Given the description of an element on the screen output the (x, y) to click on. 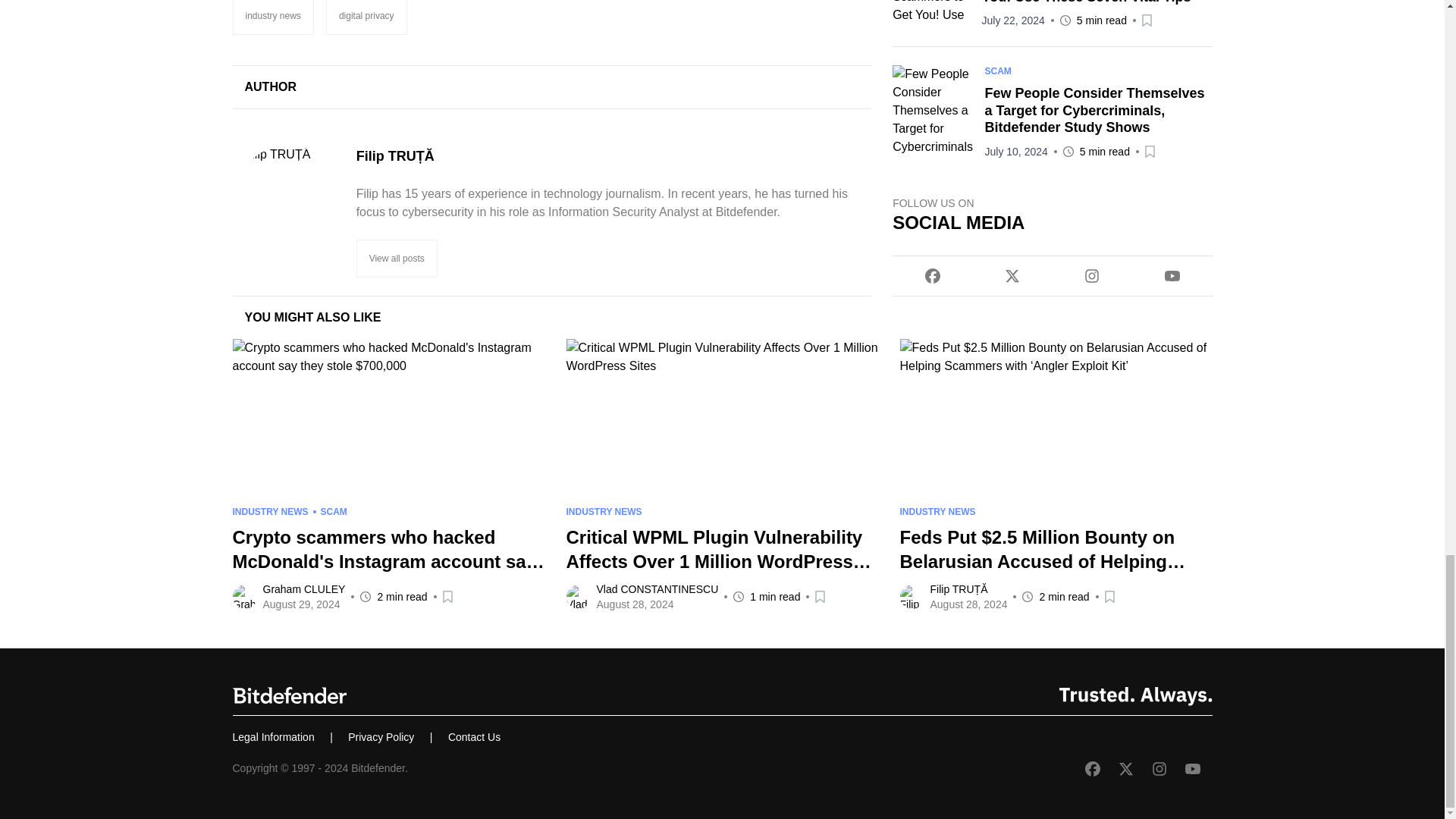
industry news (272, 17)
Industry News (272, 17)
View all posts (397, 258)
Digital Privacy (366, 17)
digital privacy (366, 17)
